Given the description of an element on the screen output the (x, y) to click on. 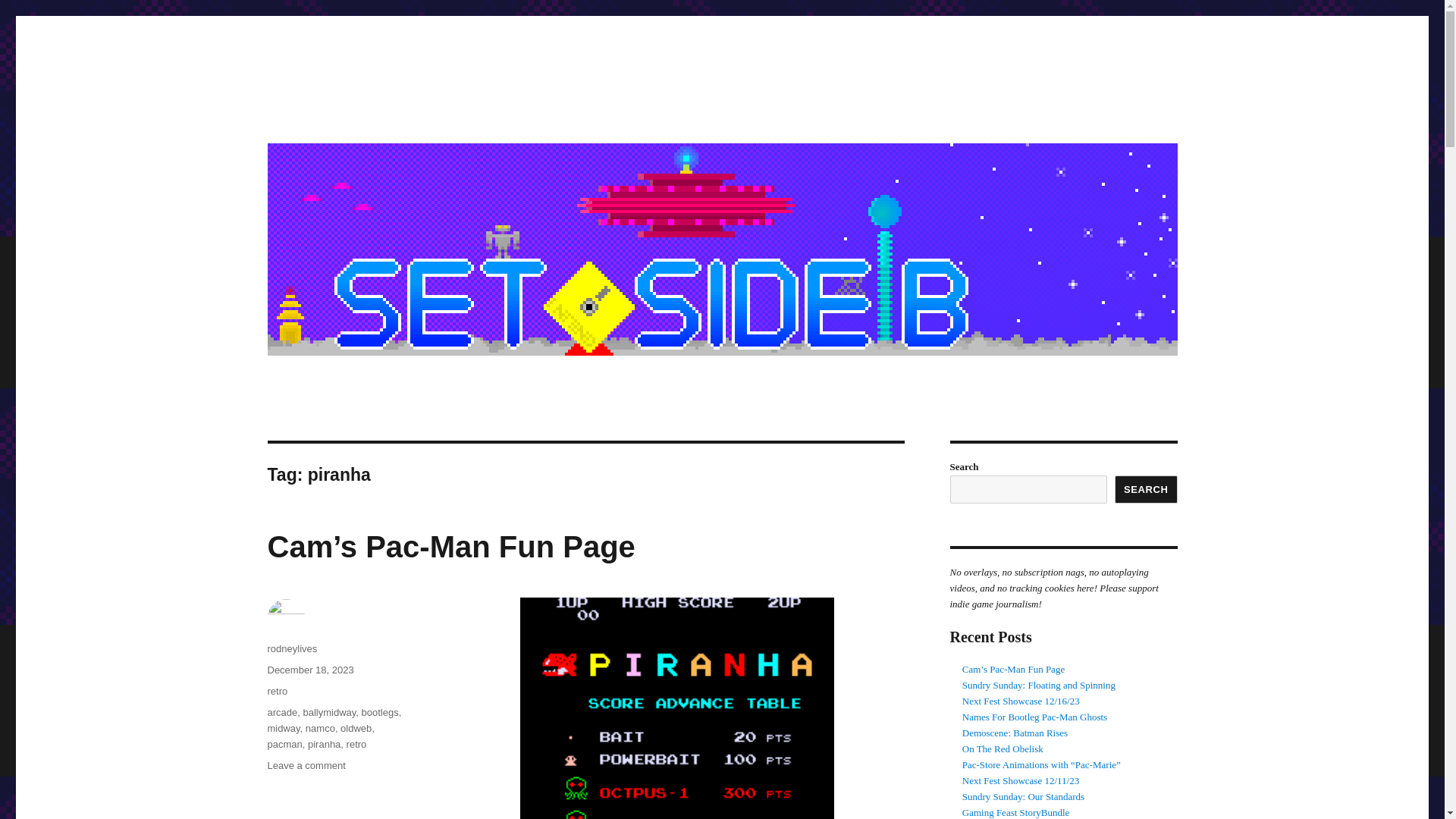
bootlegs (379, 712)
Demoscene: Batman Rises (1014, 732)
Gaming Feast StoryBundle (1016, 812)
piranha (323, 744)
retro (356, 744)
pacman (283, 744)
SEARCH (1146, 489)
Names For Bootleg Pac-Man Ghosts (1034, 716)
oldweb (355, 727)
arcade (281, 712)
December 18, 2023 (309, 669)
Sundry Sunday: Our Standards (1023, 796)
namco (319, 727)
On The Red Obelisk (1002, 748)
midway (282, 727)
